Given the description of an element on the screen output the (x, y) to click on. 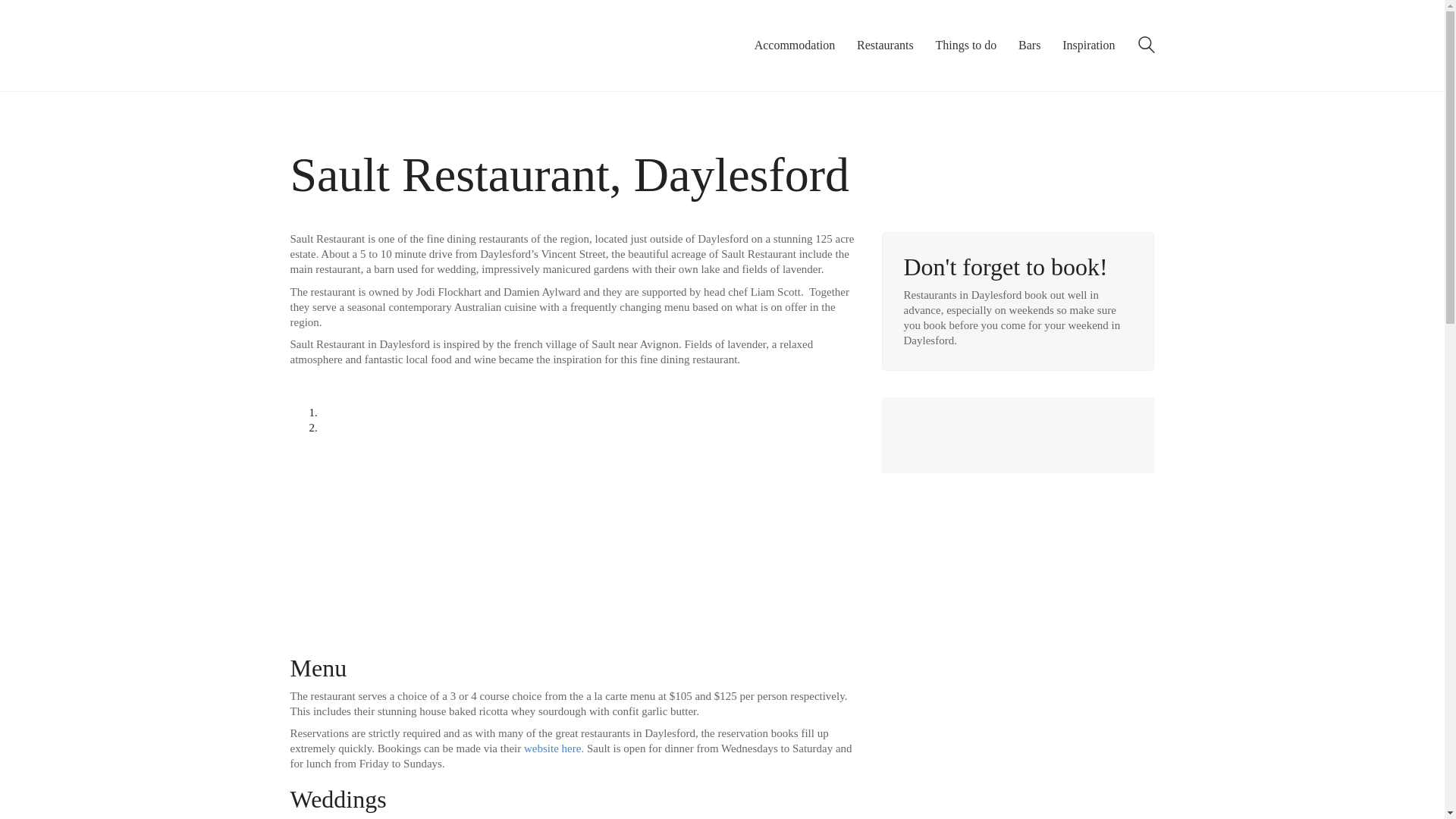
Inspiration (1088, 44)
Bars (1029, 44)
Restaurants (885, 44)
website here. (553, 748)
Things to do (964, 44)
Accommodation (794, 44)
